Given the description of an element on the screen output the (x, y) to click on. 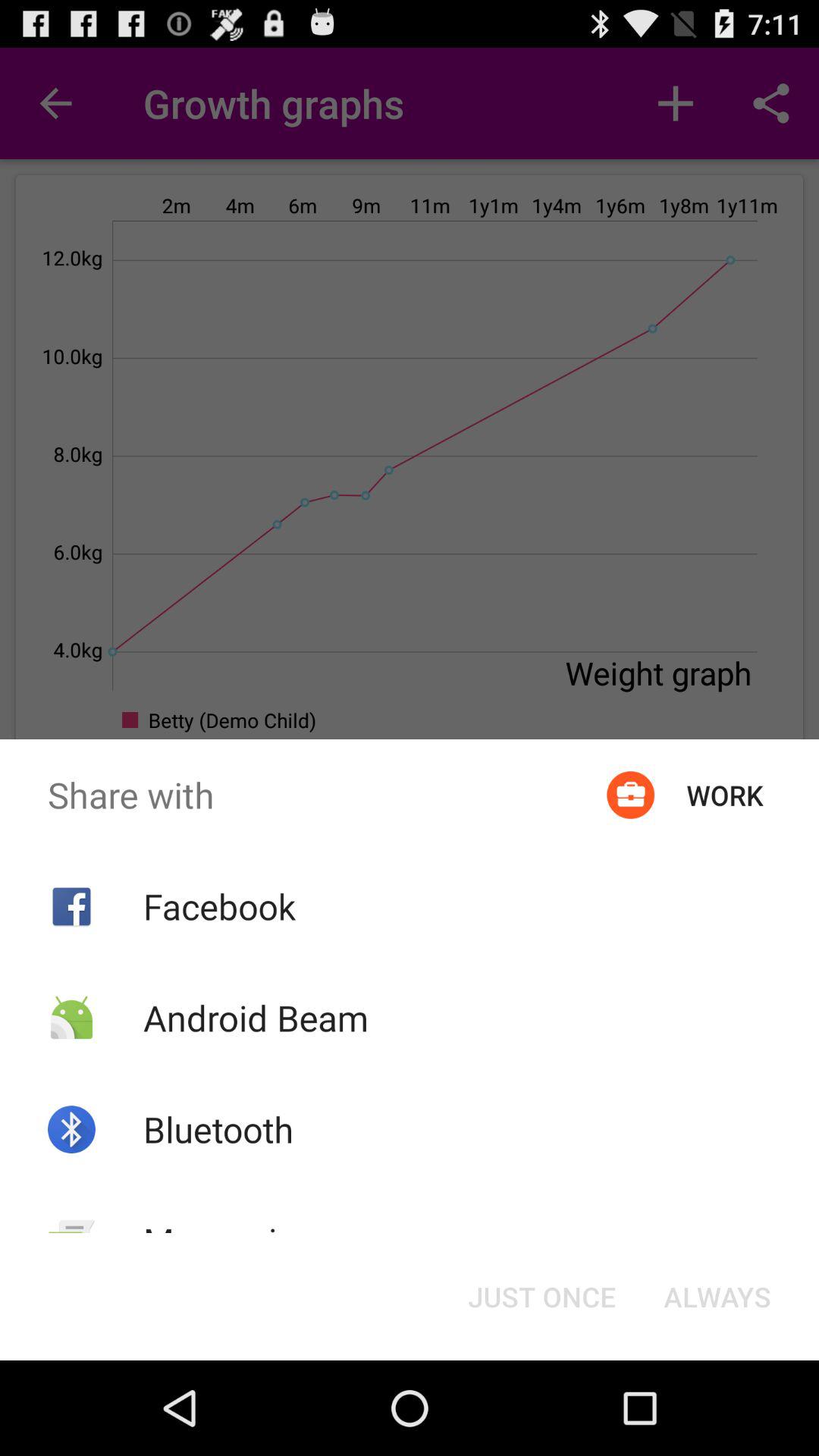
choose icon below the bluetooth app (229, 1240)
